Given the description of an element on the screen output the (x, y) to click on. 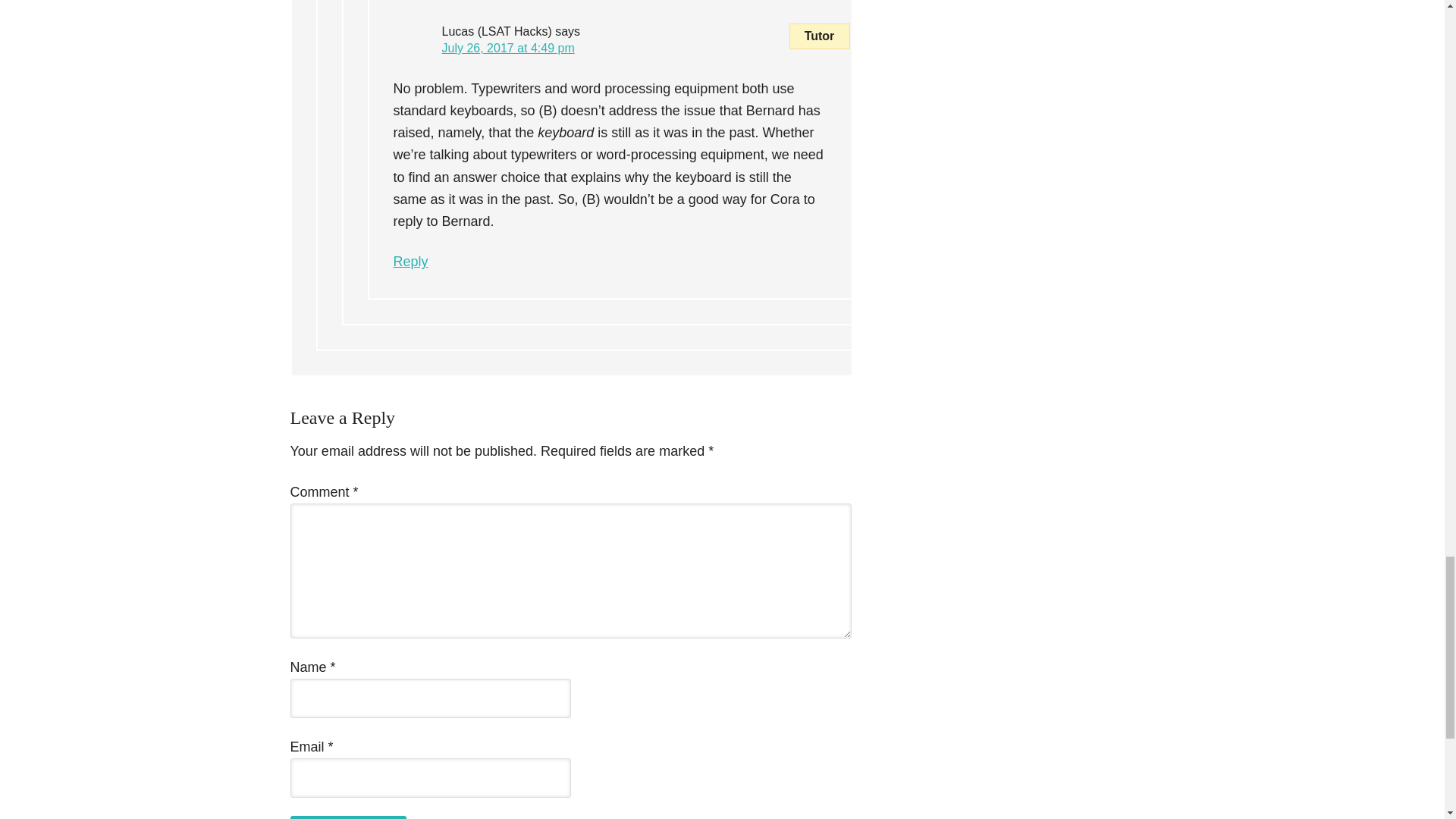
Reply (410, 261)
July 26, 2017 at 4:49 pm (507, 47)
Post Comment (347, 817)
Post Comment (347, 817)
